Given the description of an element on the screen output the (x, y) to click on. 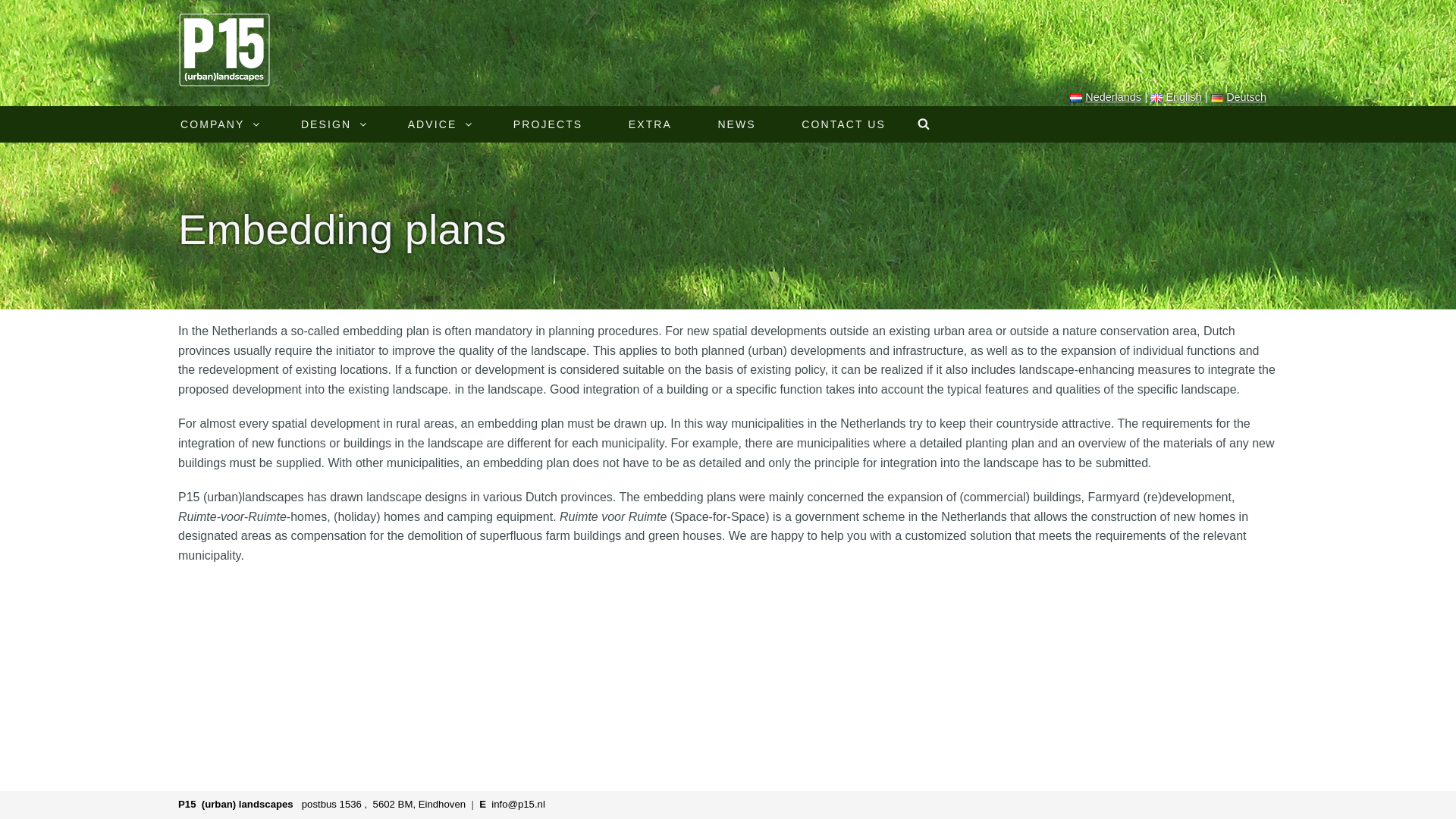
COMPANY (217, 124)
NEWS (735, 124)
CONTACT US (843, 124)
EXTRA (650, 124)
ADVICE (438, 124)
Search (926, 124)
Nederlands (1105, 96)
DESIGN (330, 124)
Deutsch (1238, 96)
PROJECTS (548, 124)
English (1176, 96)
